Given the description of an element on the screen output the (x, y) to click on. 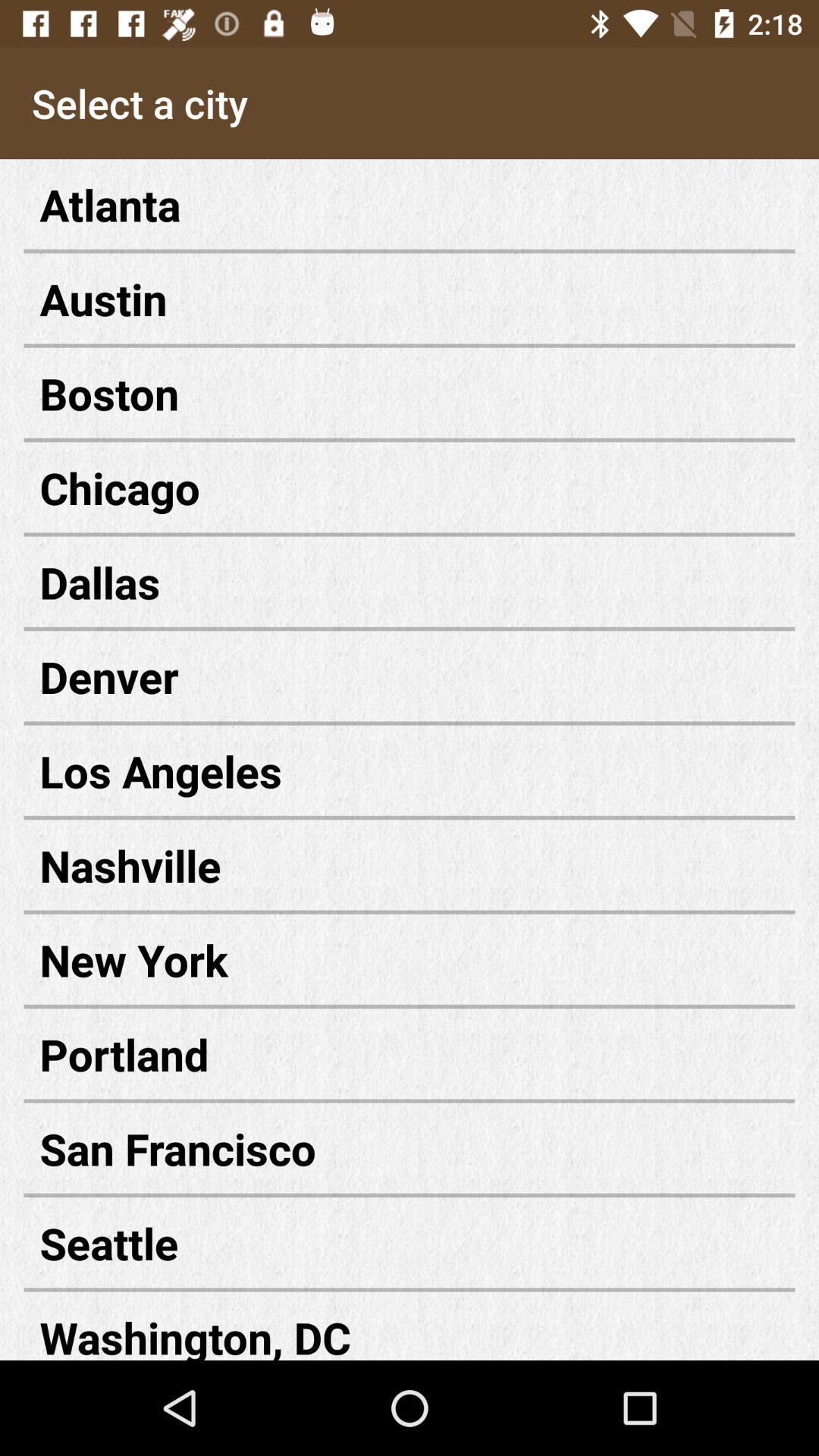
flip until the los angeles item (409, 770)
